Given the description of an element on the screen output the (x, y) to click on. 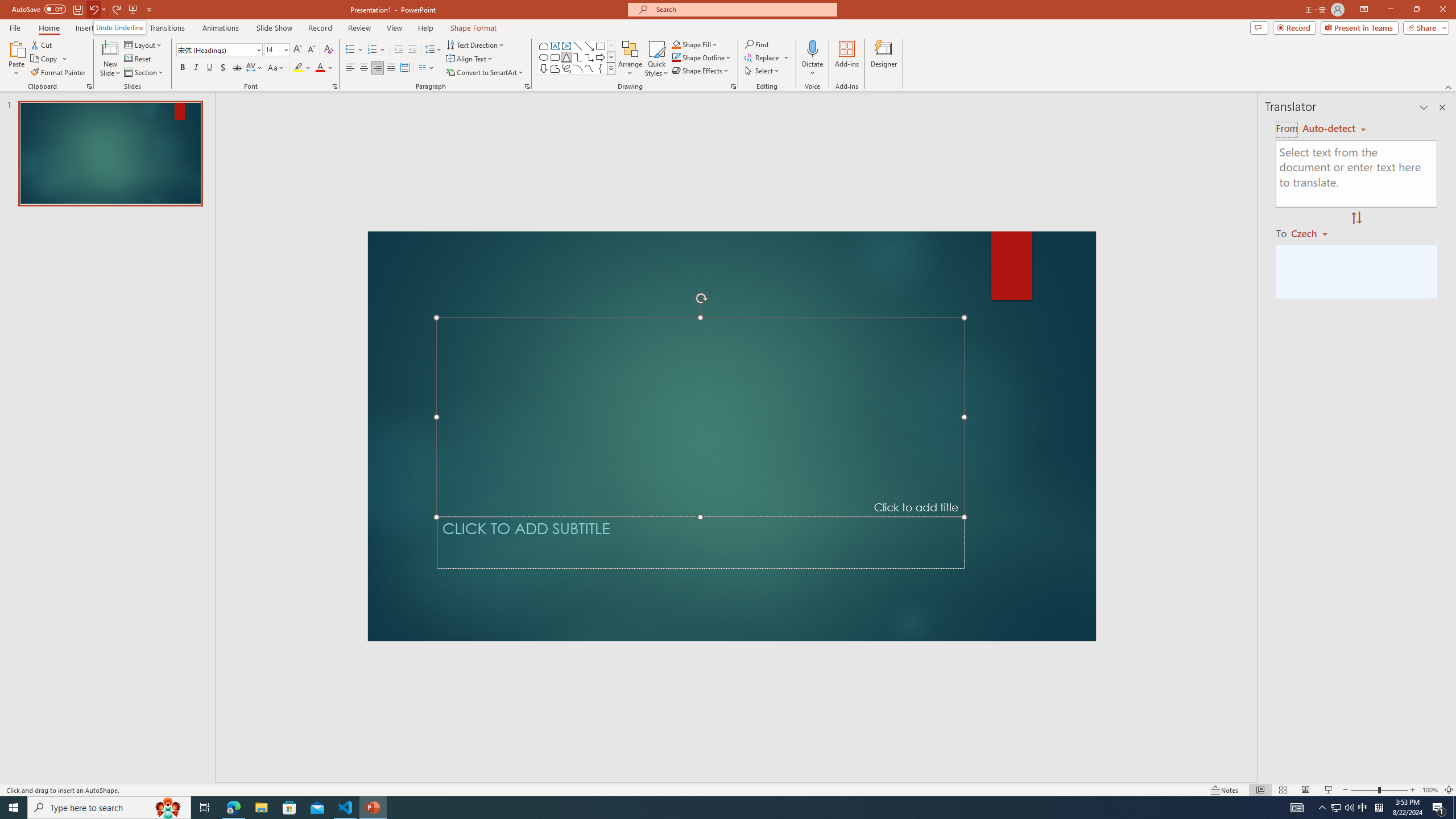
Czech (1313, 232)
